Given the description of an element on the screen output the (x, y) to click on. 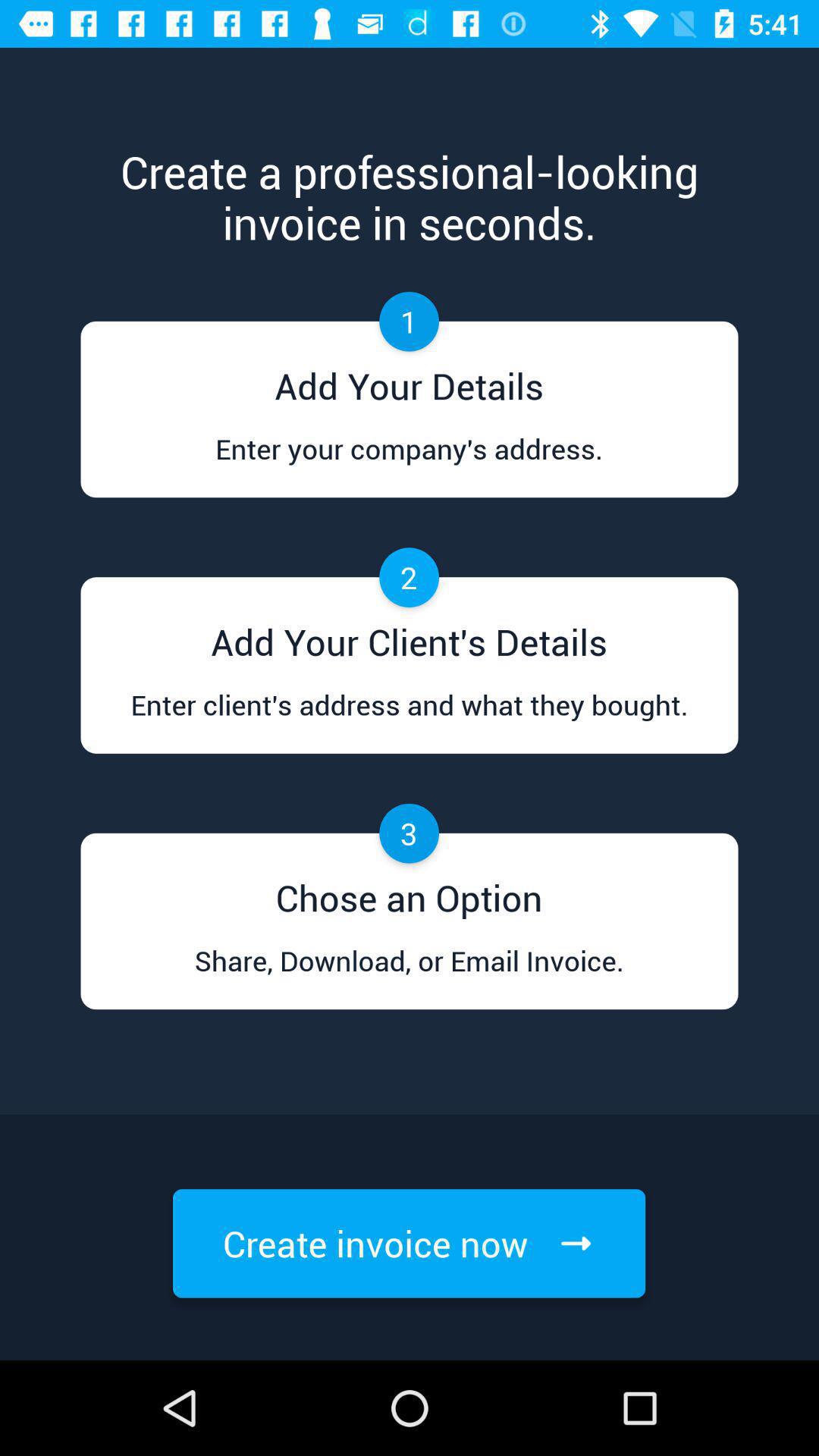
swipe to the enter your company icon (408, 463)
